Given the description of an element on the screen output the (x, y) to click on. 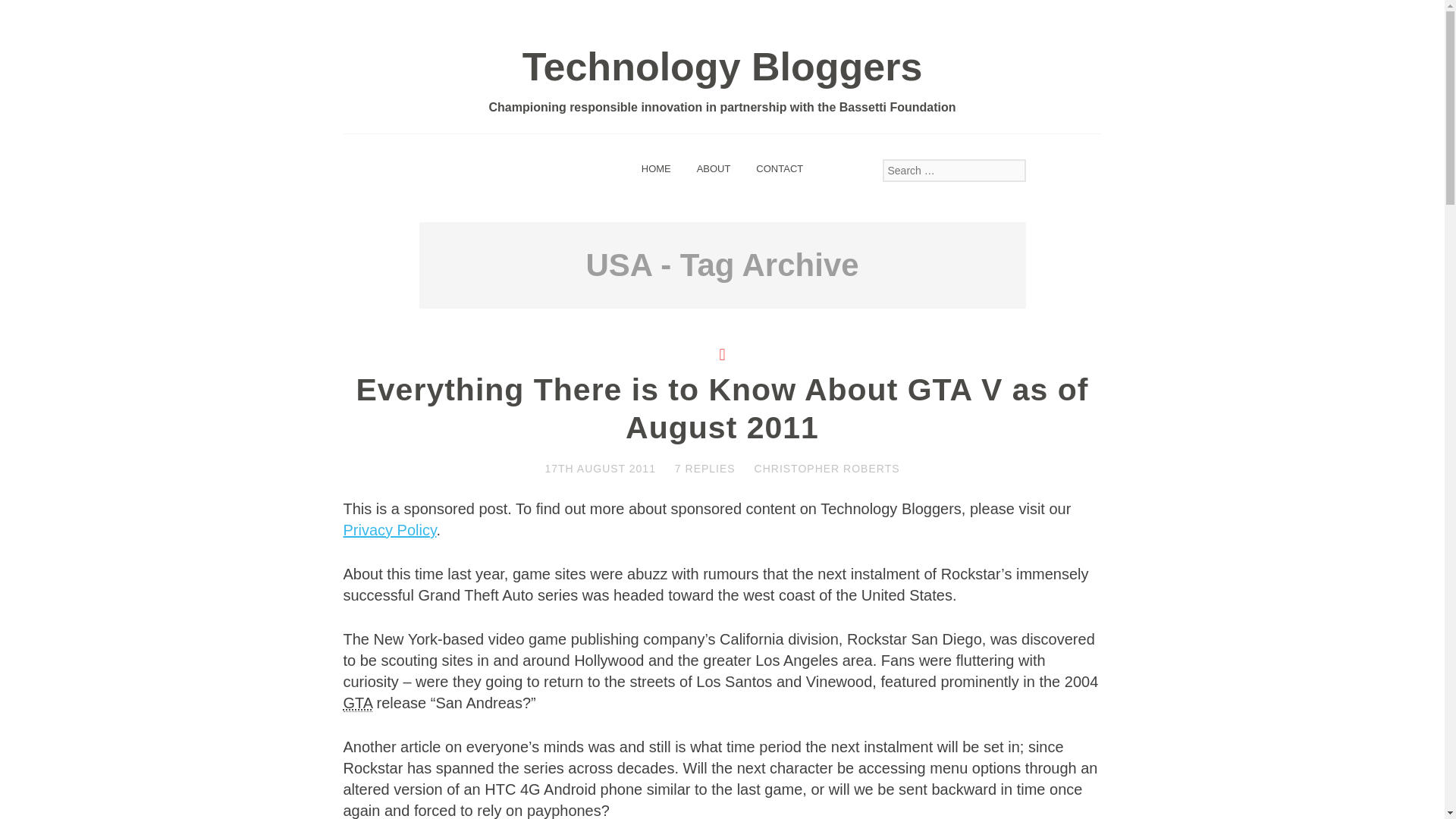
Technology Bloggers (722, 66)
7 REPLIES (705, 468)
17TH AUGUST 2011 (599, 468)
Get In Touch With Technology Bloggers (778, 167)
Technology Bloggers Homepage (656, 167)
Everything There is to Know About GTA V as of August 2011 (721, 408)
Technology Bloggers (722, 66)
View all posts by Christopher Roberts (826, 468)
CONTACT (778, 167)
Grand Theft Auto (357, 702)
ABOUT (713, 167)
CHRISTOPHER ROBERTS (826, 468)
Privacy Policy (388, 529)
HOME (656, 167)
Search for: (954, 169)
